Given the description of an element on the screen output the (x, y) to click on. 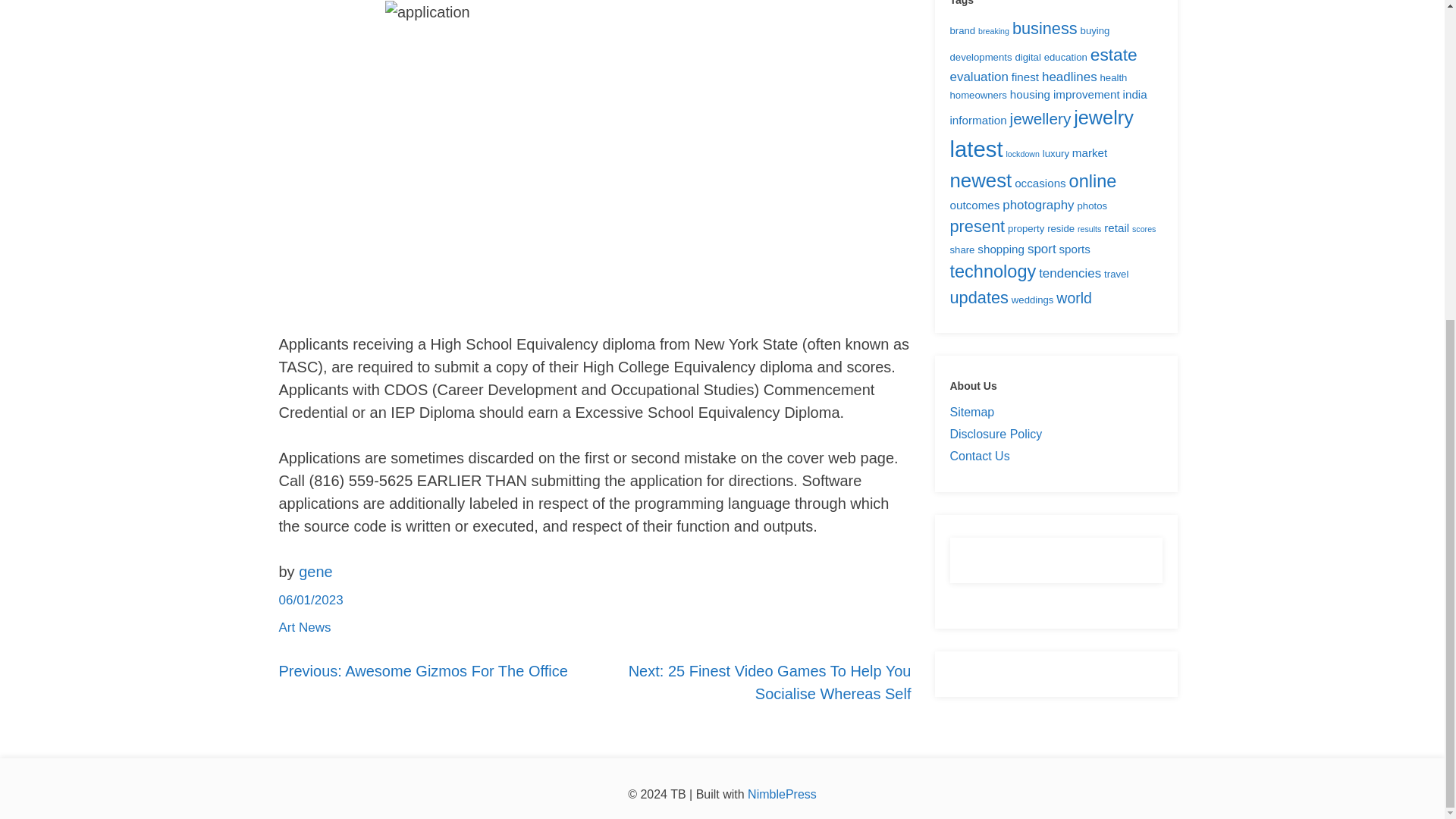
digital (1027, 57)
evaluation (978, 76)
newest (980, 179)
occasions (1039, 182)
luxury (1055, 153)
housing (1029, 93)
improvement (1085, 93)
developments (980, 57)
online (1092, 180)
education (1065, 57)
